Given the description of an element on the screen output the (x, y) to click on. 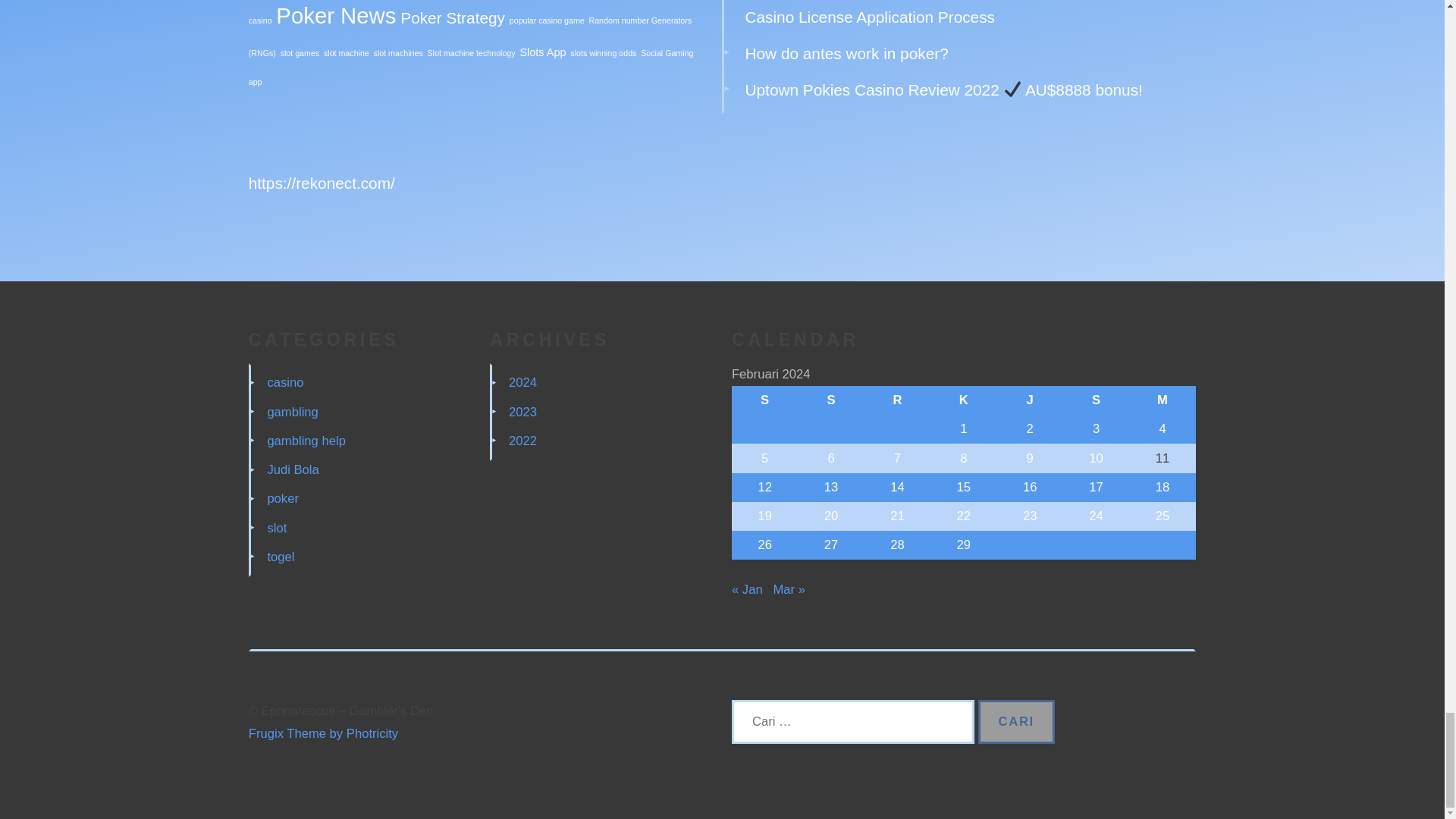
Minggu (1162, 399)
Cari (1016, 721)
Senin (764, 399)
Cari (1016, 721)
Selasa (830, 399)
Rabu (897, 399)
Kamis (962, 399)
Jumat (1029, 399)
Sabtu (1095, 399)
